Given the description of an element on the screen output the (x, y) to click on. 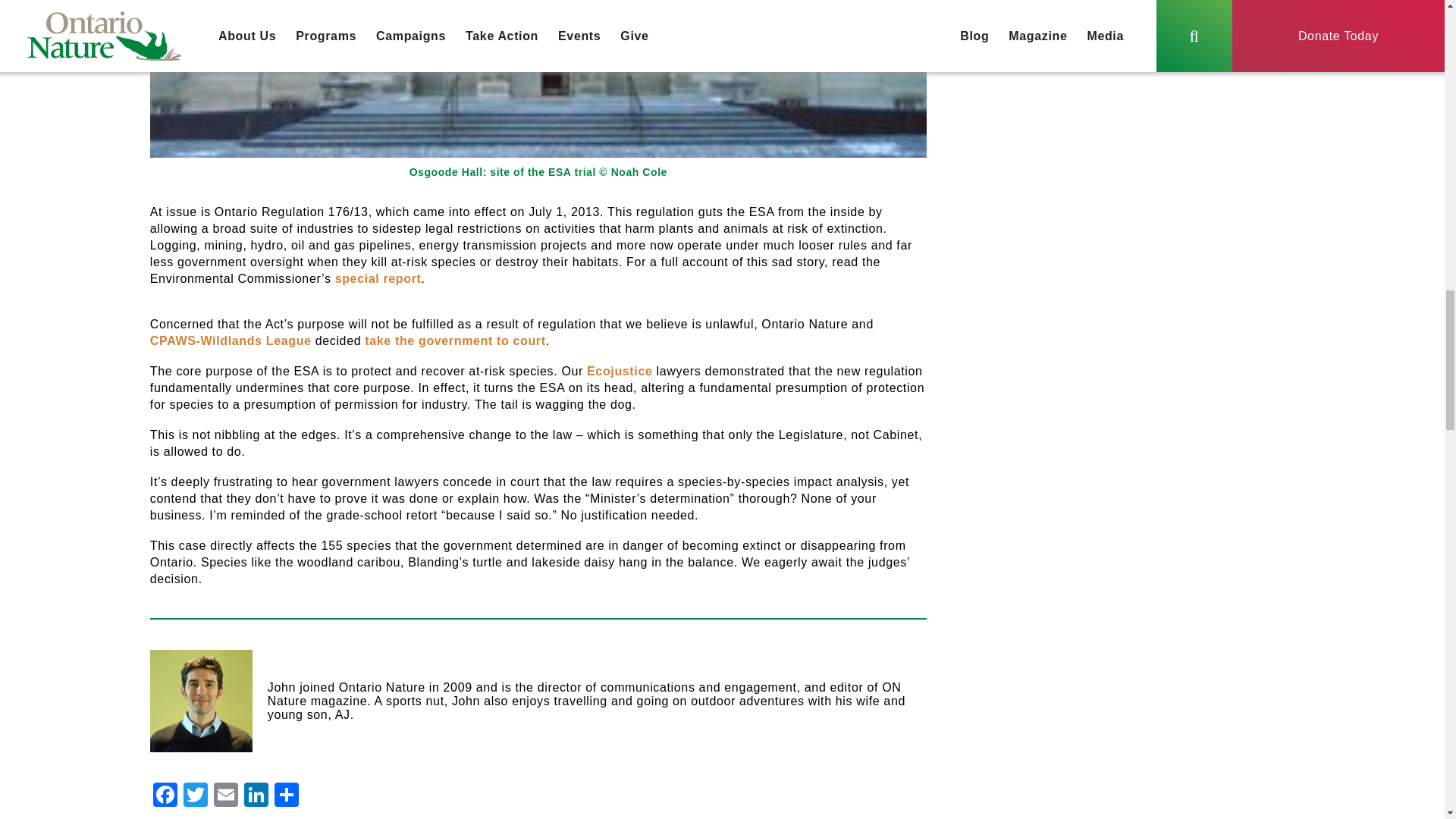
LinkedIn (255, 796)
Facebook (164, 796)
John Hassell (200, 701)
Twitter (195, 796)
Email (226, 796)
